Given the description of an element on the screen output the (x, y) to click on. 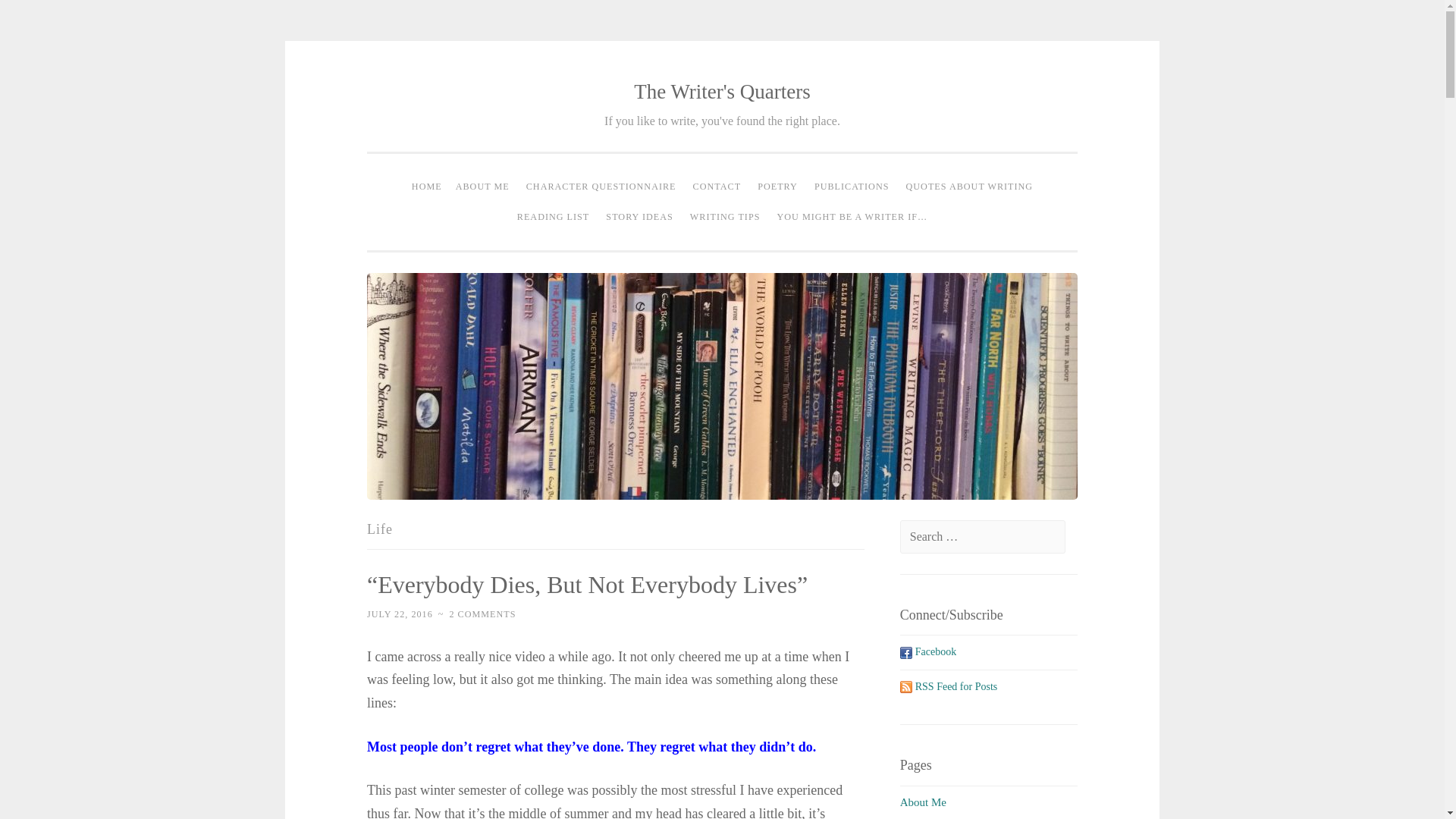
JULY 22, 2016 (399, 614)
ABOUT ME (482, 186)
CHARACTER QUESTIONNAIRE (600, 186)
POETRY (778, 186)
The Writer's Quarters (721, 91)
CONTACT (716, 186)
WRITING TIPS (724, 216)
QUOTES ABOUT WRITING (970, 186)
READING LIST (553, 216)
